Given the description of an element on the screen output the (x, y) to click on. 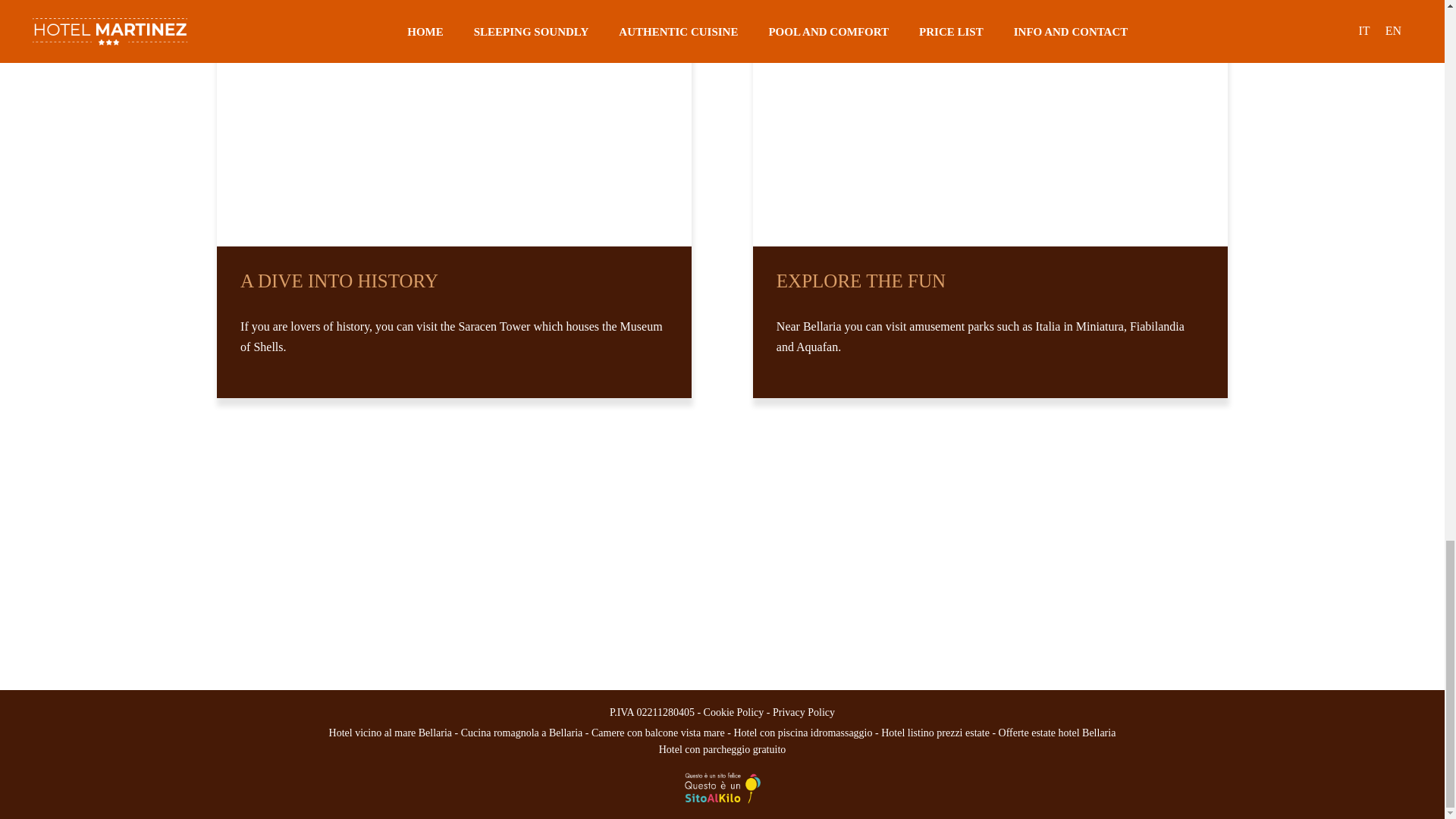
POOL AND COMFORT (150, 662)
Cookie Policy (733, 712)
HOME (150, 588)
Privacy Policy (803, 712)
AUTHENTIC CUISINE (150, 613)
INFO AND CONTACT (376, 613)
Hotel vicino al mare Bellaria (390, 733)
SLEEPING SOUNDLY (150, 637)
PRICE LIST (376, 588)
Cucina romagnola a Bellaria (522, 733)
